Given the description of an element on the screen output the (x, y) to click on. 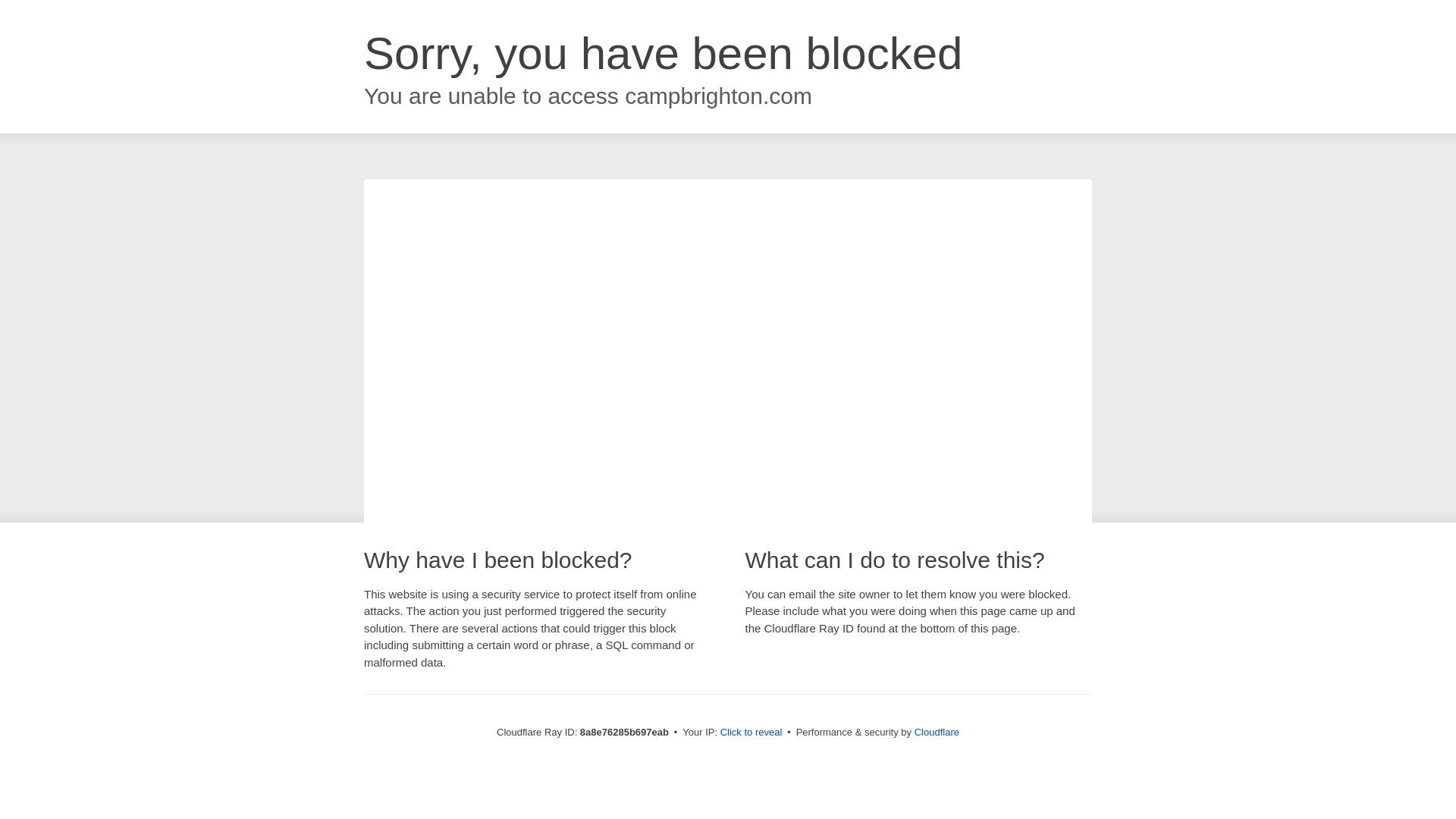
Click to reveal (751, 732)
Cloudflare (936, 731)
